Given the description of an element on the screen output the (x, y) to click on. 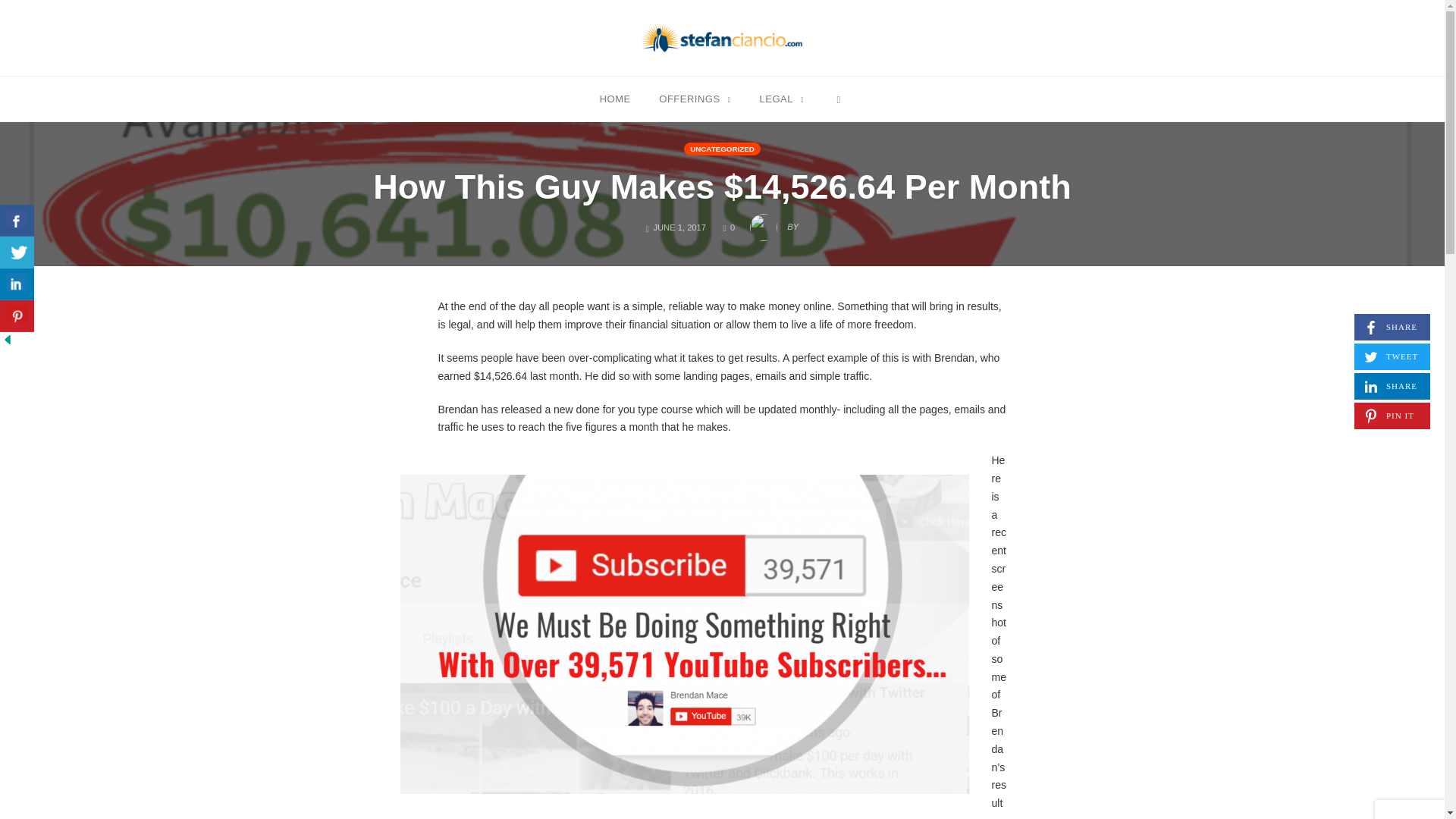
Stefan Ciancio (722, 38)
Share On Facebook (16, 220)
Share On Linkedin (16, 284)
Share This With Your Friends (728, 226)
HOME (1391, 386)
LEGAL (18, 275)
OPEN SEARCH FORM (615, 97)
Share On Pinterest (781, 97)
OFFERINGS (838, 97)
Hide Buttons (16, 316)
Skip to content (694, 97)
UNCATEGORIZED (7, 338)
